Given the description of an element on the screen output the (x, y) to click on. 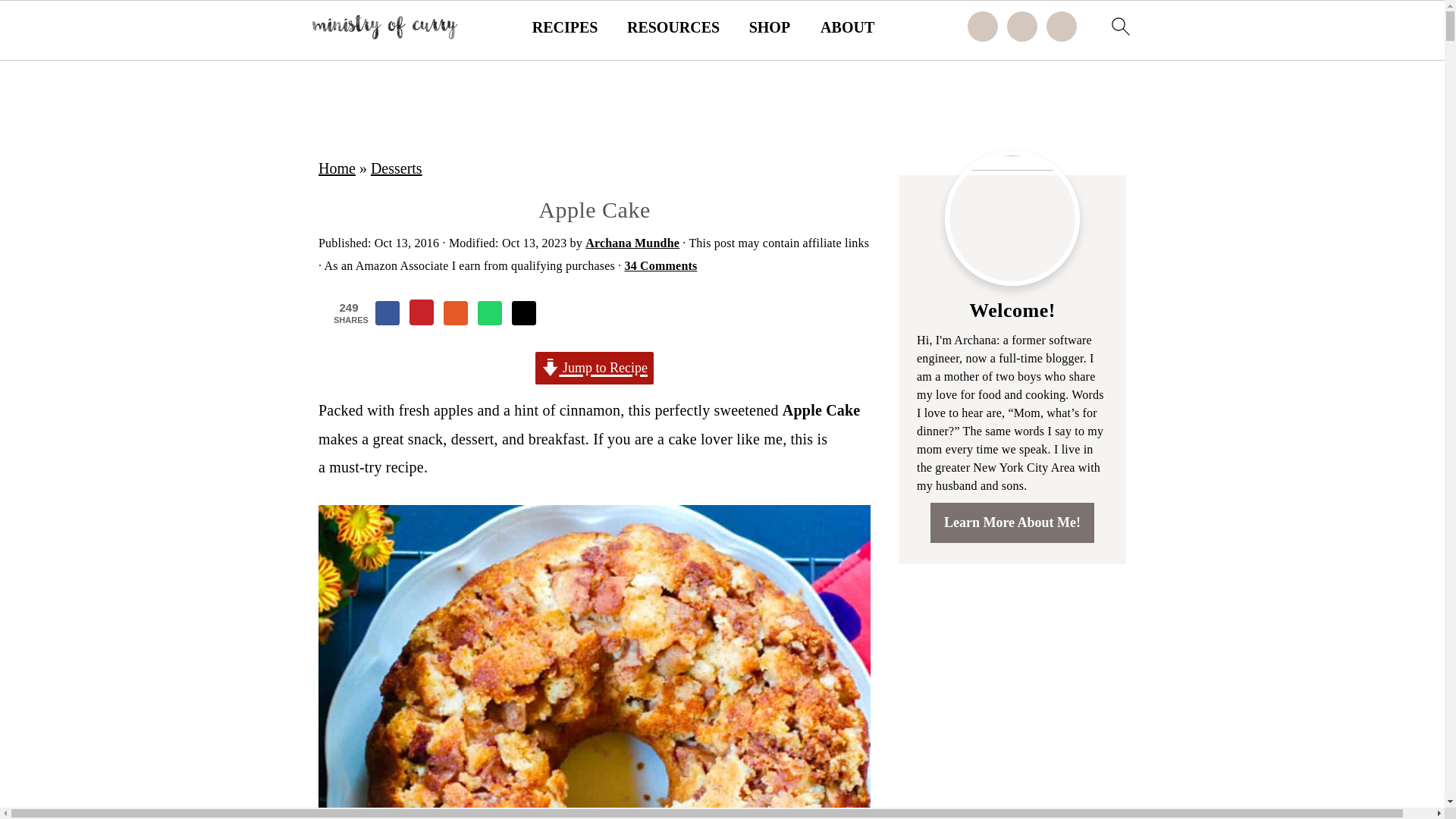
Home (336, 167)
Archana Mundhe (632, 242)
Share on WhatsApp (489, 312)
RECIPES (565, 27)
Save to Pinterest (421, 312)
SHOP (769, 27)
Desserts (396, 167)
Share on Facebook (386, 312)
search icon (1119, 31)
search icon (1119, 26)
34 Comments (660, 265)
RESOURCES (673, 27)
Share on Yummly (455, 312)
Share on X (523, 312)
